Given the description of an element on the screen output the (x, y) to click on. 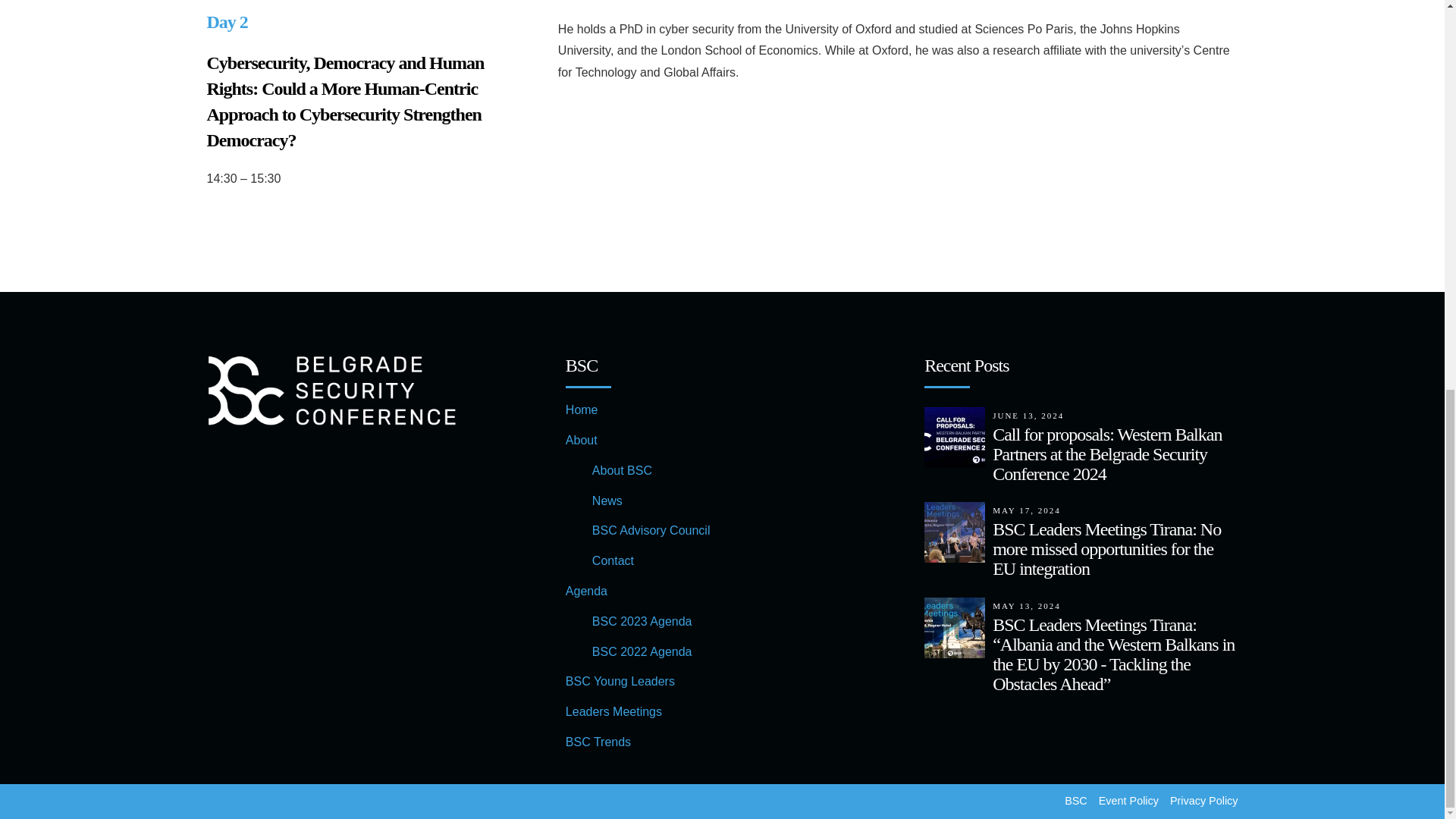
About (581, 440)
Leaders Meetings (614, 711)
BSC 2023 Agenda (642, 621)
BSC 2022 Agenda (642, 651)
BSC Advisory Council (651, 530)
Home (582, 409)
BSC Young Leaders (620, 680)
About BSC (622, 470)
News (607, 500)
Agenda (586, 590)
Contact (612, 560)
BSC Trends (598, 741)
